Given the description of an element on the screen output the (x, y) to click on. 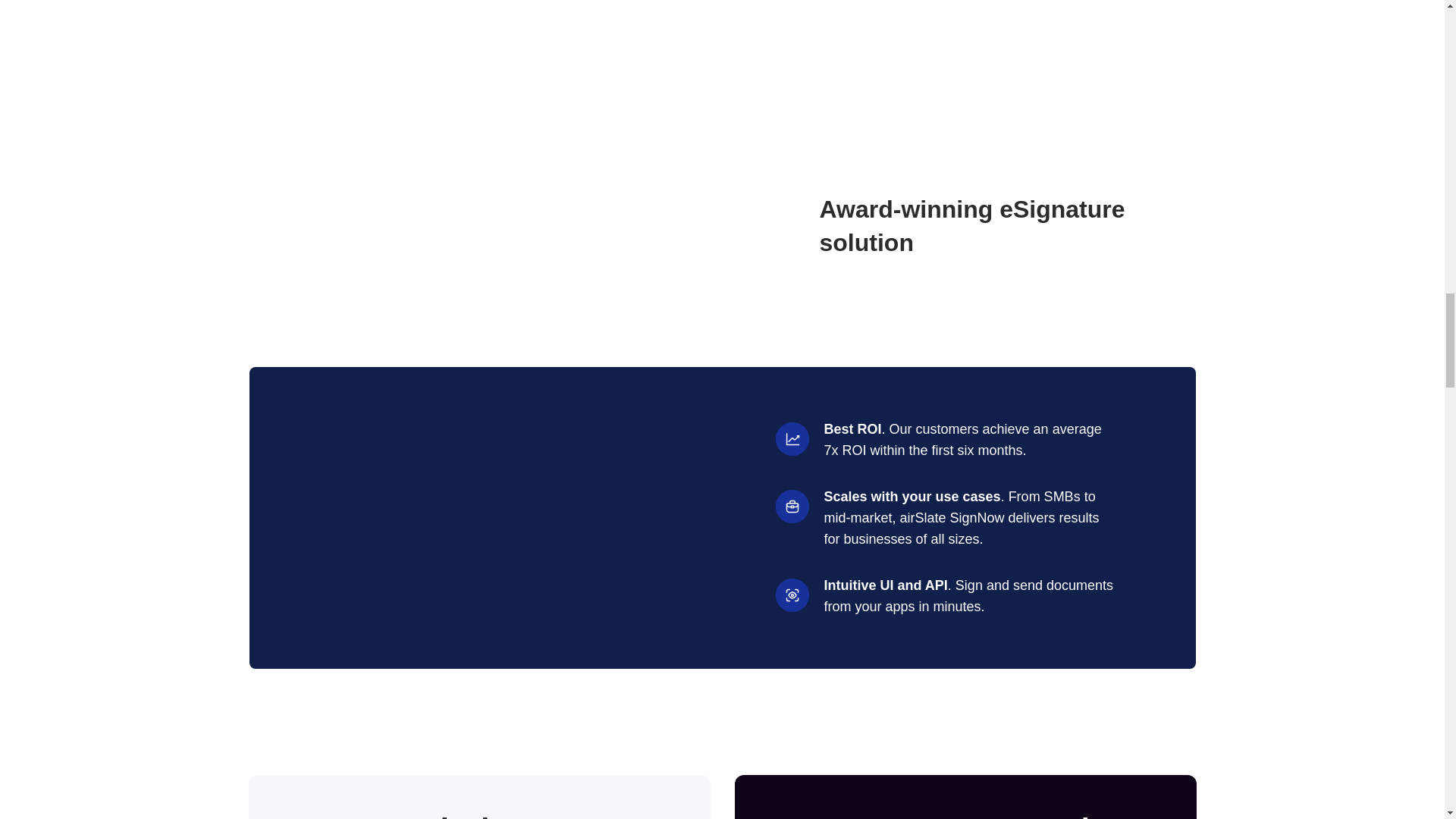
Leader Summer 2024 (558, 226)
Small Business Summer 2024 (690, 226)
Best Support Summer 2024 (425, 226)
Mid Market Summer 2024 (292, 226)
